Given the description of an element on the screen output the (x, y) to click on. 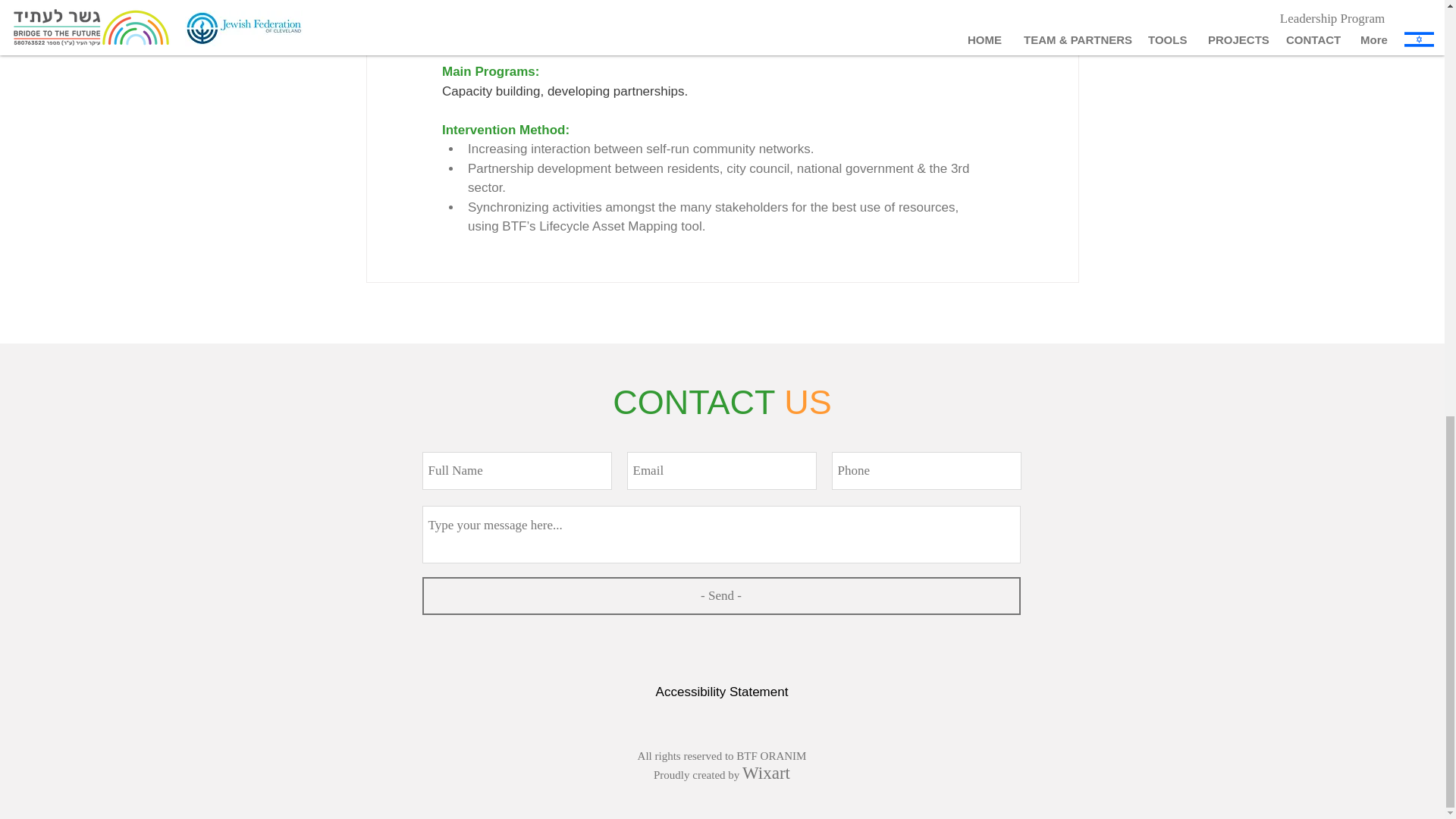
Wixart (766, 774)
Accessibility Statement (722, 691)
- Send - (721, 596)
